Given the description of an element on the screen output the (x, y) to click on. 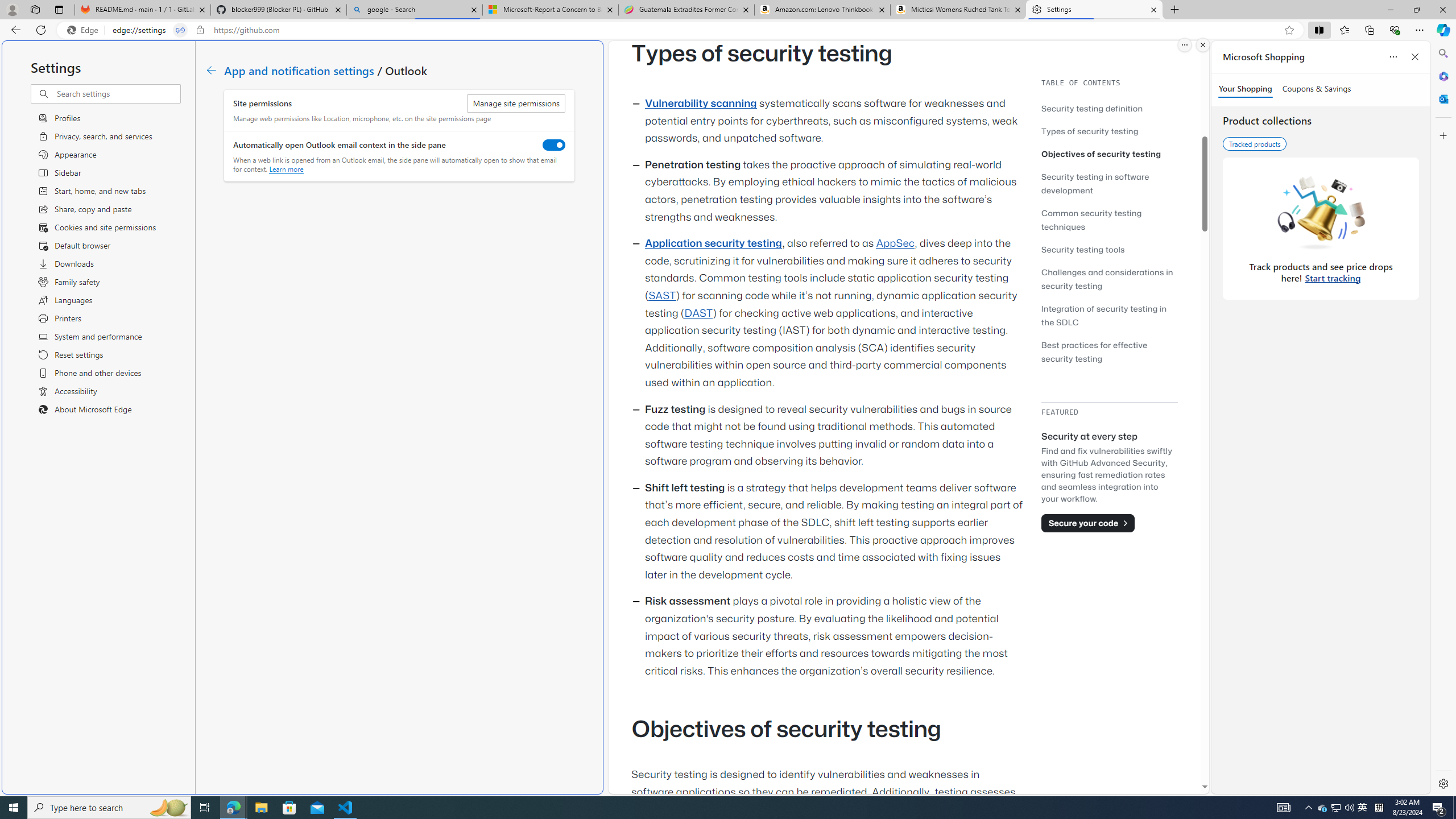
Security testing tools (1109, 249)
Customize (1442, 135)
App and notification settings (299, 69)
AppSec (895, 243)
Best practices for effective security testing (1109, 351)
Objectives of security testing (1101, 153)
App bar (728, 29)
